Given the description of an element on the screen output the (x, y) to click on. 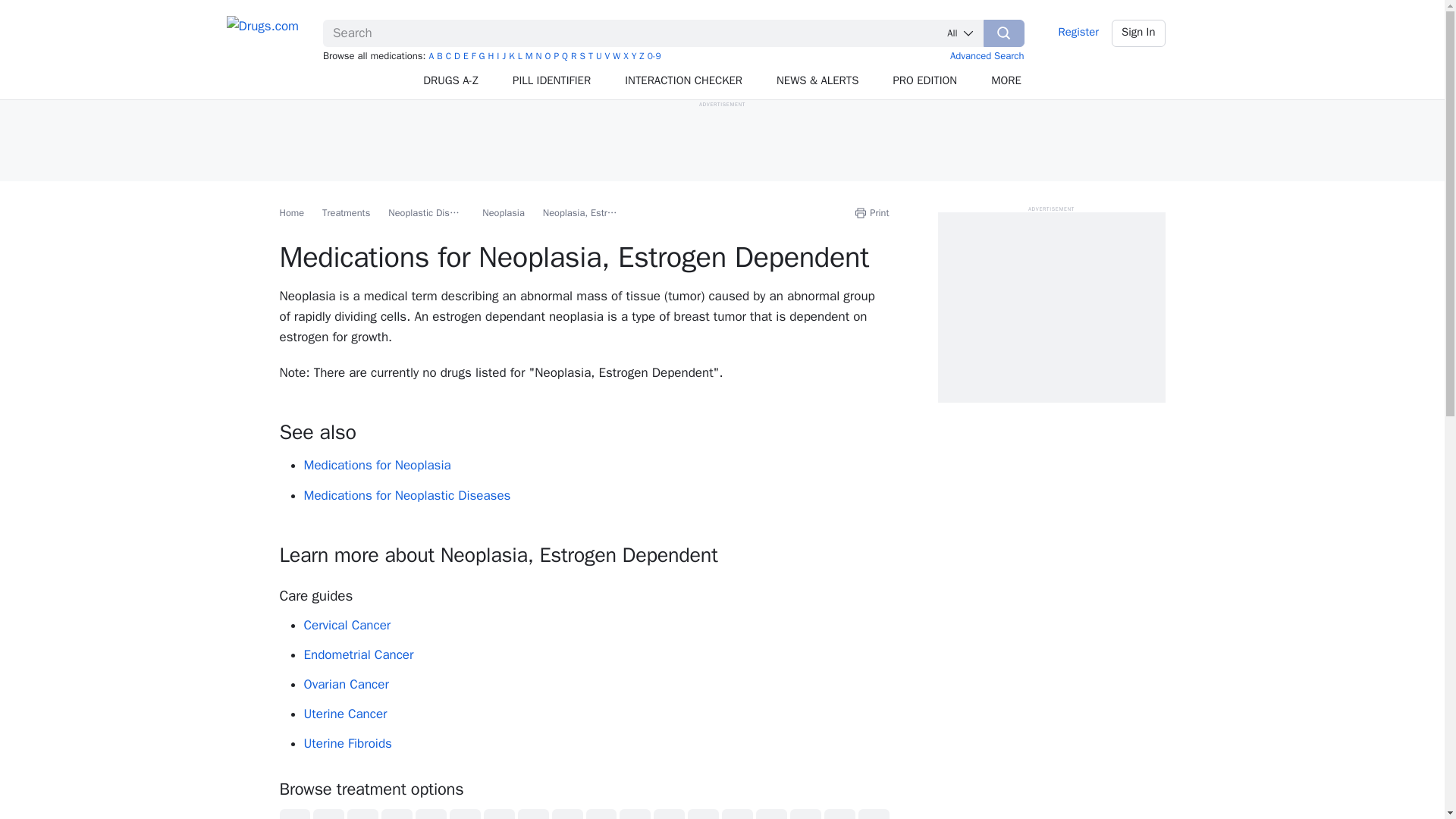
0-9 (654, 55)
DRUGS A-Z (450, 81)
Advanced Search (987, 55)
PILL IDENTIFIER (551, 81)
Sign In (1139, 32)
Search (1004, 32)
Register (1078, 32)
